Given the description of an element on the screen output the (x, y) to click on. 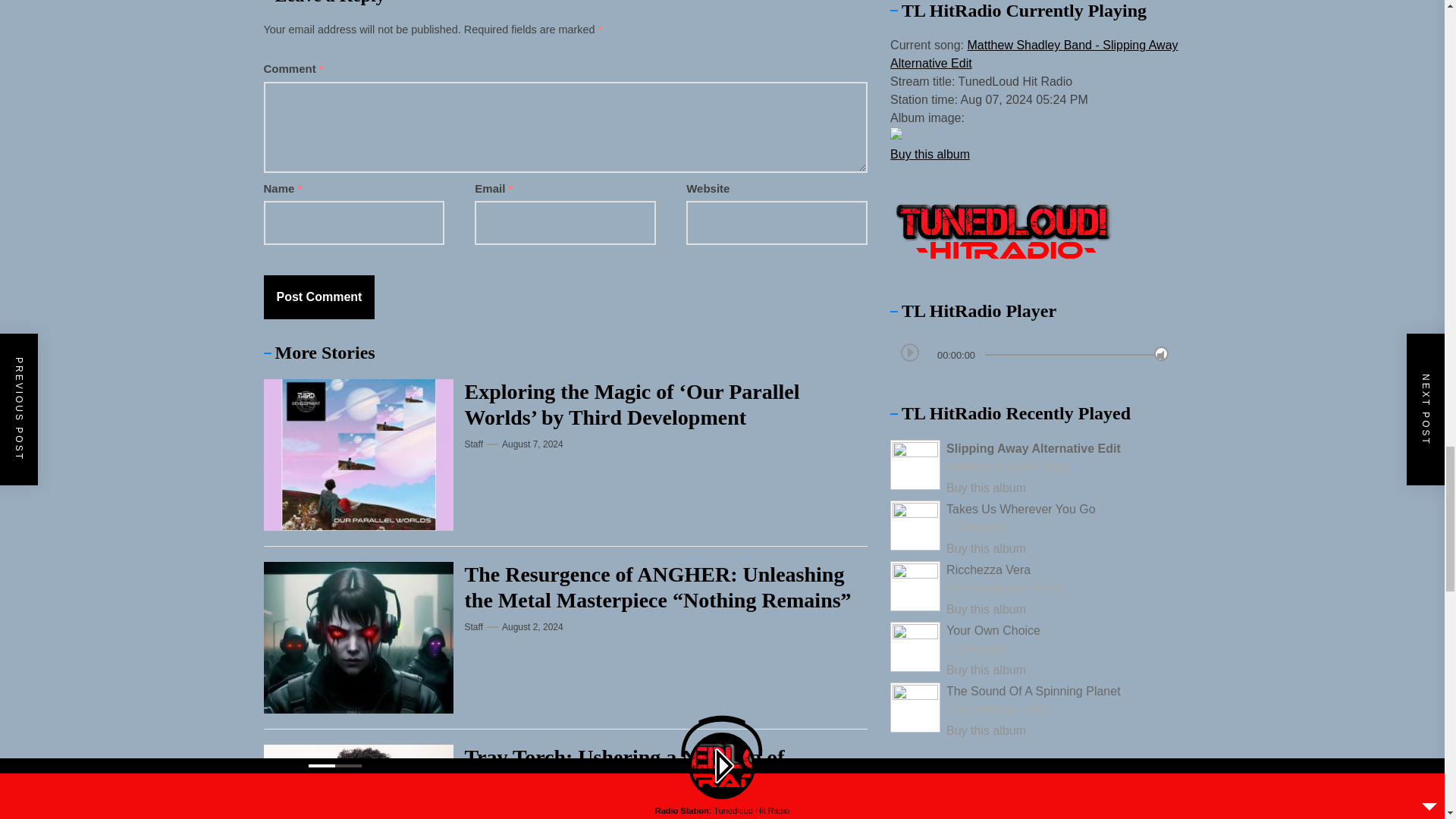
Post Comment (319, 297)
